Given the description of an element on the screen output the (x, y) to click on. 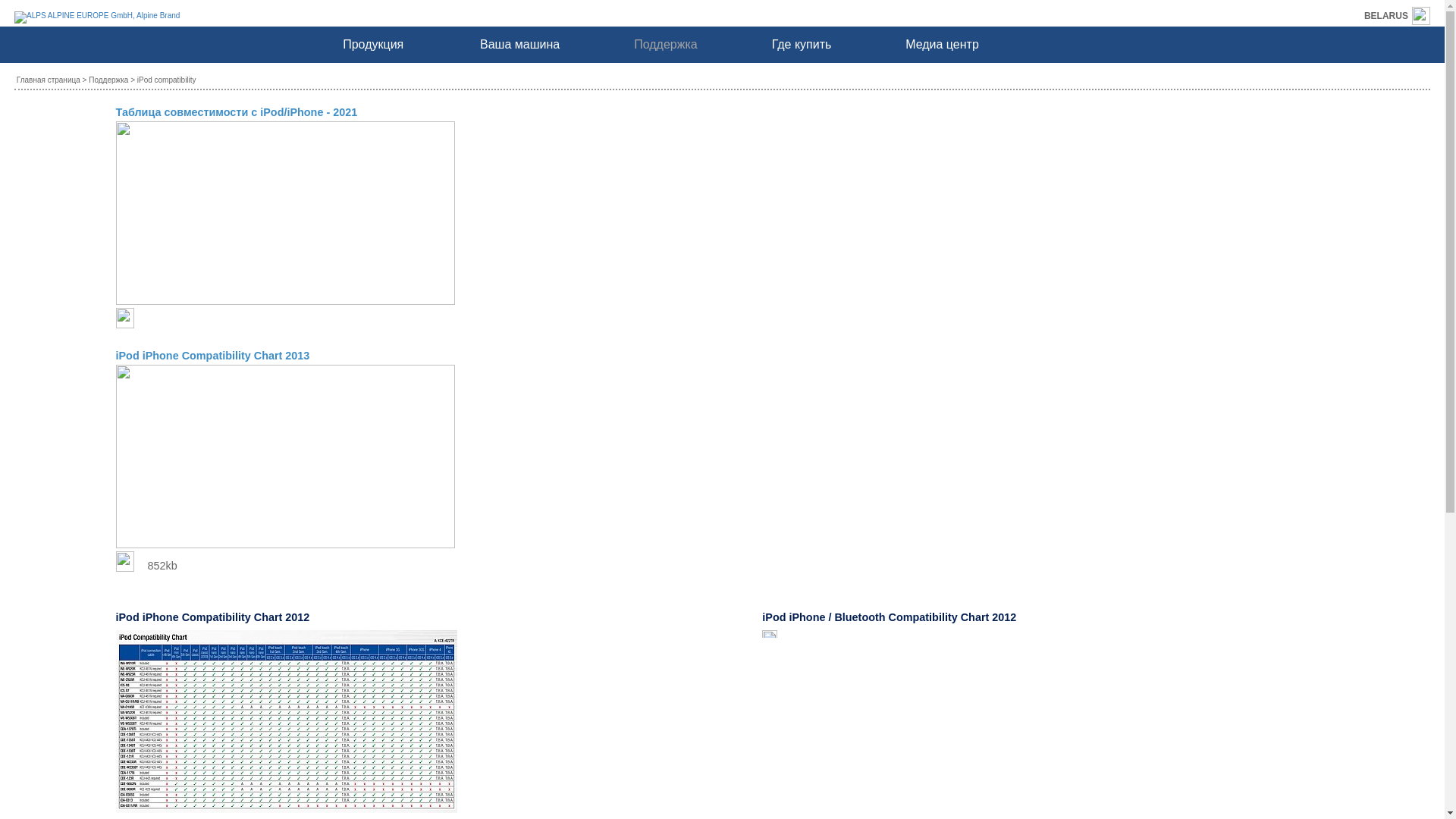
Click to enlarge Element type: hover (769, 633)
ALPS ALPINE EUROPE GmbH, Alpine Brand Element type: hover (89, 19)
Click to enlarge Element type: hover (285, 721)
iPod iPhone Compatibility Chart 2021 Element type: hover (132, 322)
Opens internal link in current window Element type: hover (284, 298)
iPod iPhone Compatibility Chart 2013 Element type: text (212, 355)
